Given the description of an element on the screen output the (x, y) to click on. 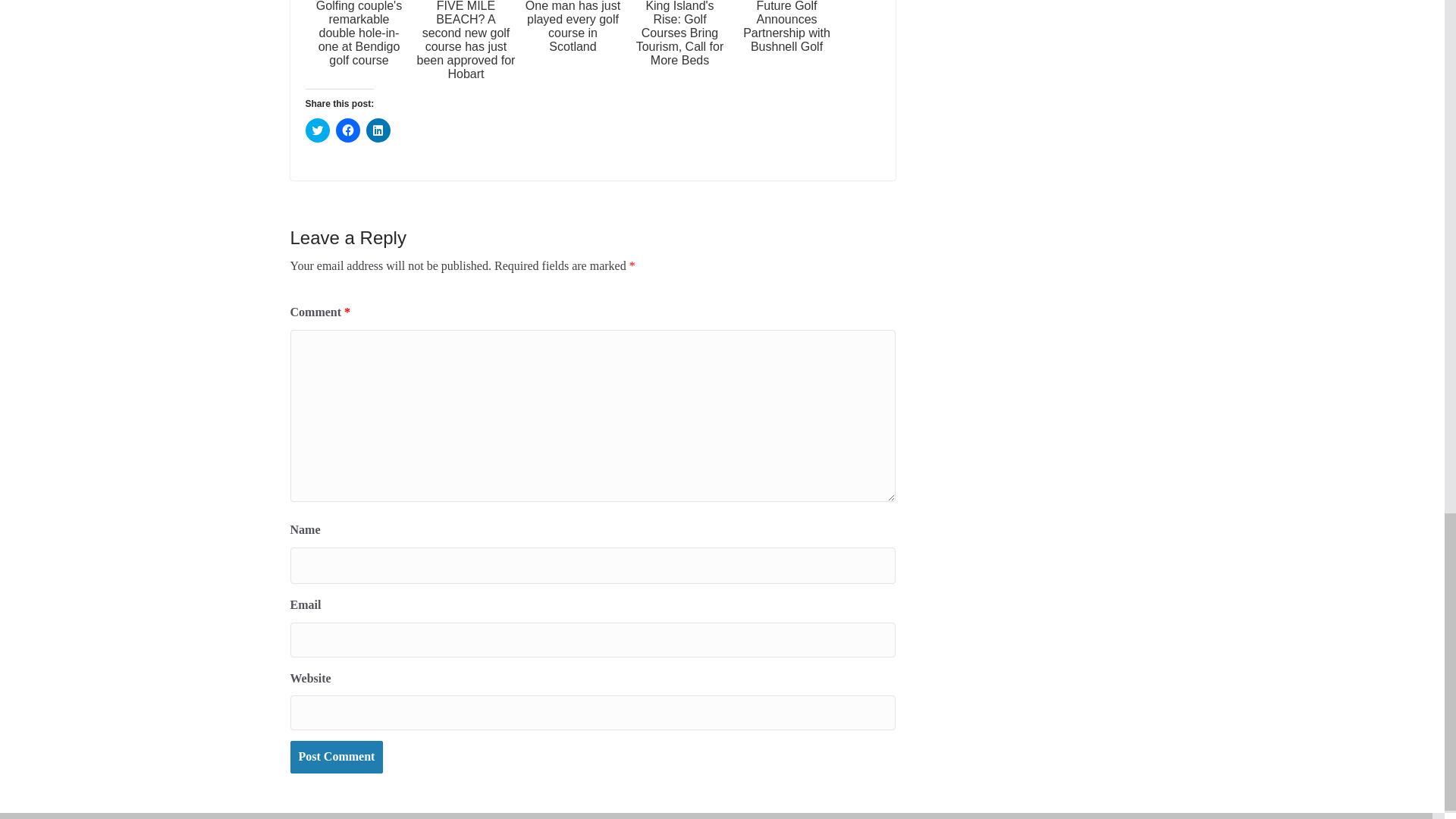
Future Golf Announces Partnership with Bushnell Golf (786, 42)
Click to share on Twitter (316, 129)
One man has just played every golf course in Scotland (572, 42)
Click to share on LinkedIn (377, 129)
Click to share on Facebook (346, 129)
Post Comment (335, 757)
Post Comment (335, 757)
